Given the description of an element on the screen output the (x, y) to click on. 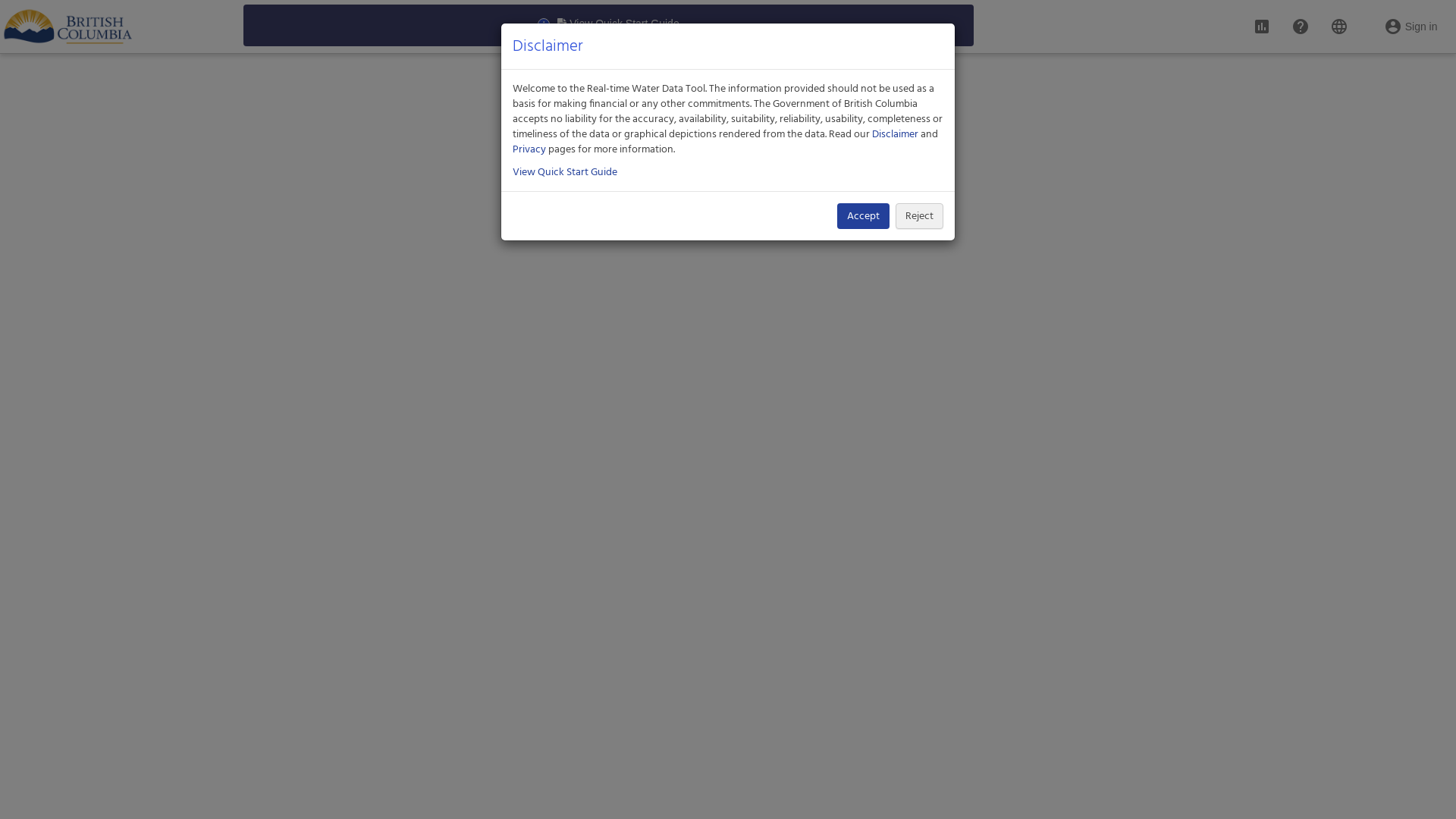
Privacy Element type: text (529, 149)
assessment Element type: text (1261, 19)
Reject Element type: text (919, 216)
account_circle
 Sign in Element type: text (1410, 19)
language Element type: text (1339, 19)
Disclaimer Element type: text (895, 133)
Accept Element type: text (863, 216)
help Element type: text (1300, 19)
View Quick Start Guide Element type: text (564, 171)
